Given the description of an element on the screen output the (x, y) to click on. 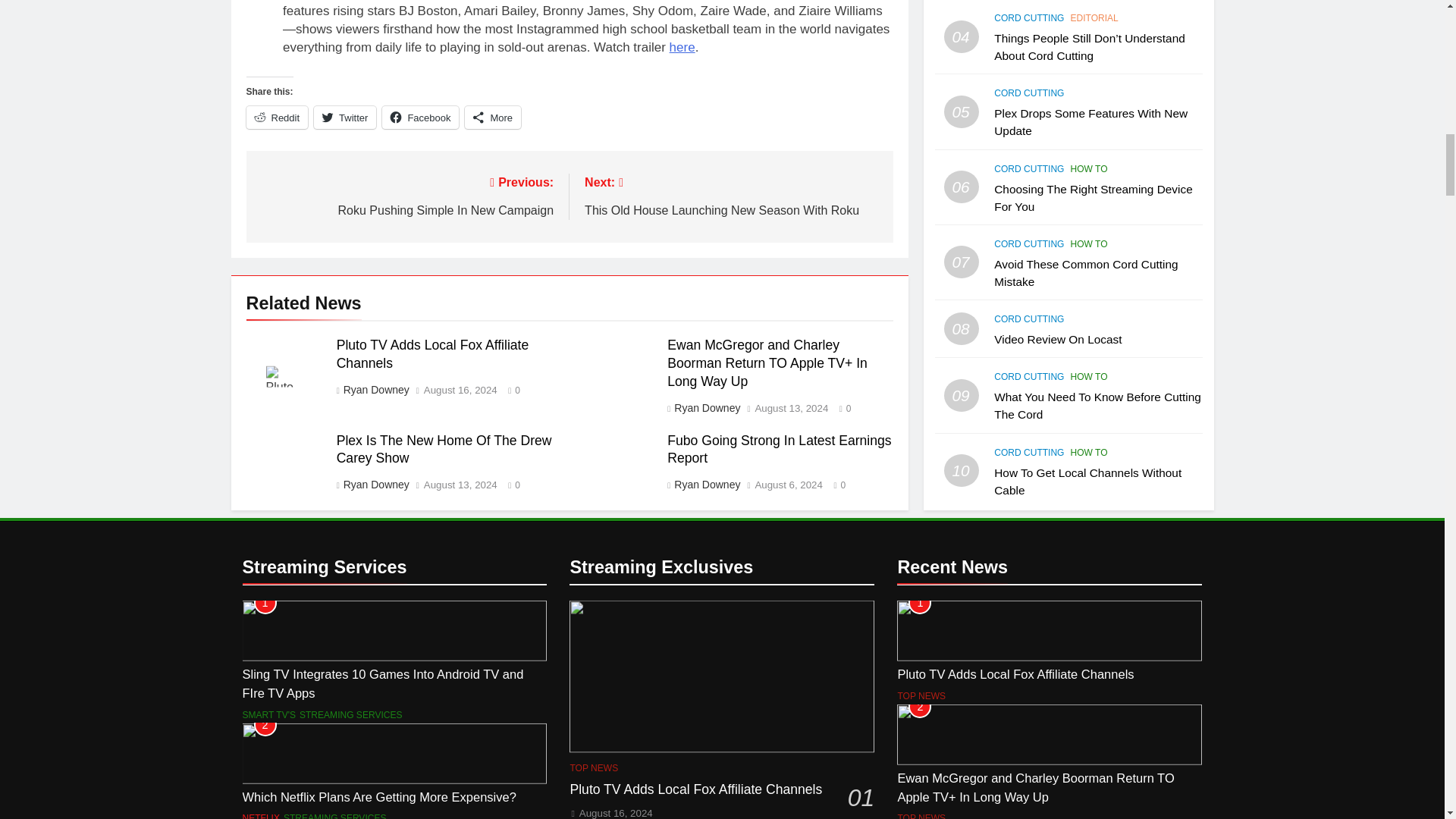
Click to share on Twitter (344, 117)
Click to share on Reddit (276, 117)
Click to share on Facebook (419, 117)
